Given the description of an element on the screen output the (x, y) to click on. 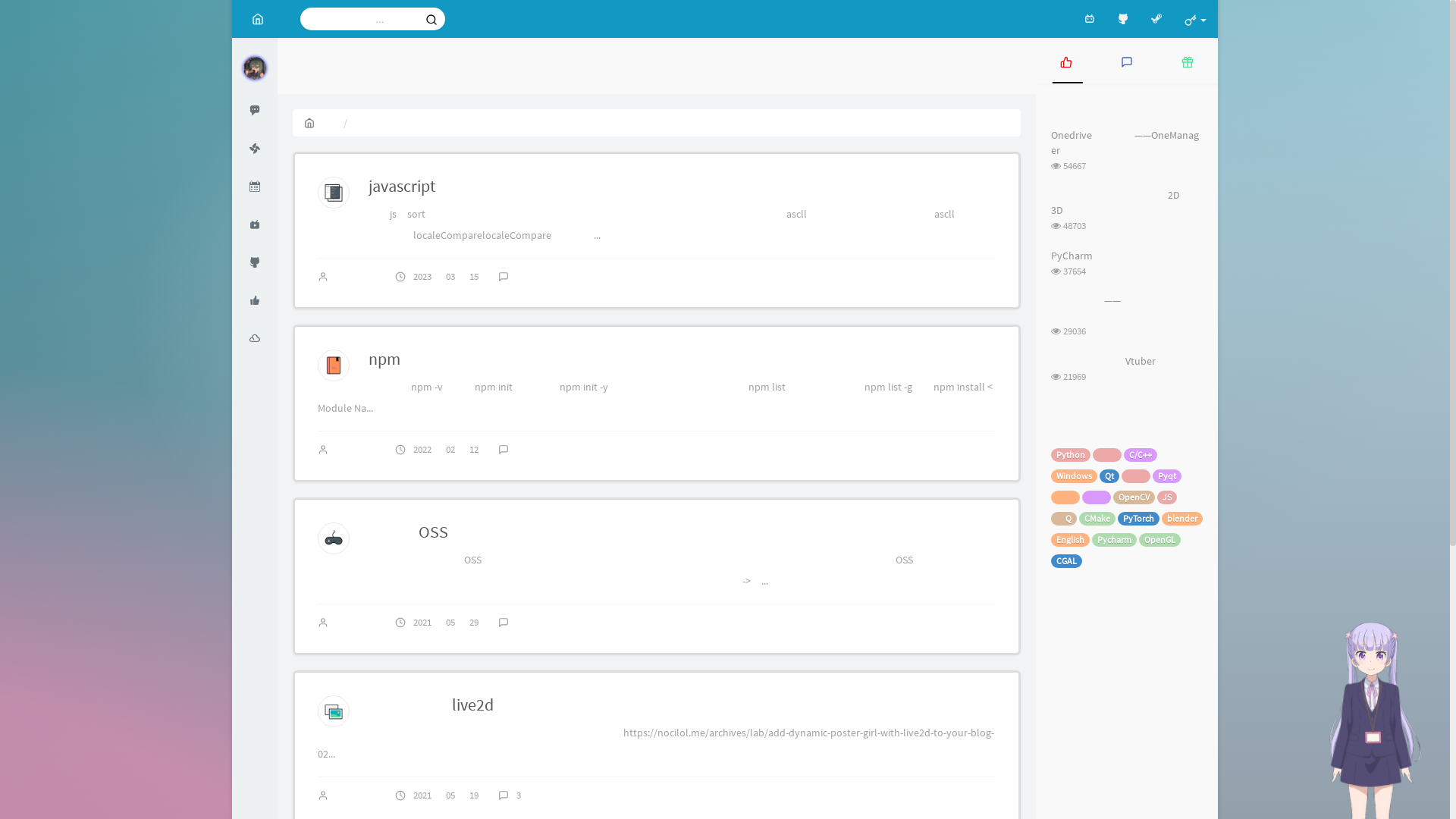
OpenCV Element type: text (1133, 497)
English Element type: text (1070, 539)
Pycharm Element type: text (1114, 539)
PyTorch Element type: text (1138, 518)
C/C++ Element type: text (1140, 454)
OpenGL Element type: text (1159, 539)
Windows Element type: text (1074, 476)
CGAL Element type: text (1066, 560)
blender Element type: text (1181, 518)
Python Element type: text (1070, 454)
Pyqt Element type: text (1166, 476)
Qt Element type: text (1109, 476)
CMake Element type: text (1097, 518)
JS Element type: text (1166, 497)
